Given the description of an element on the screen output the (x, y) to click on. 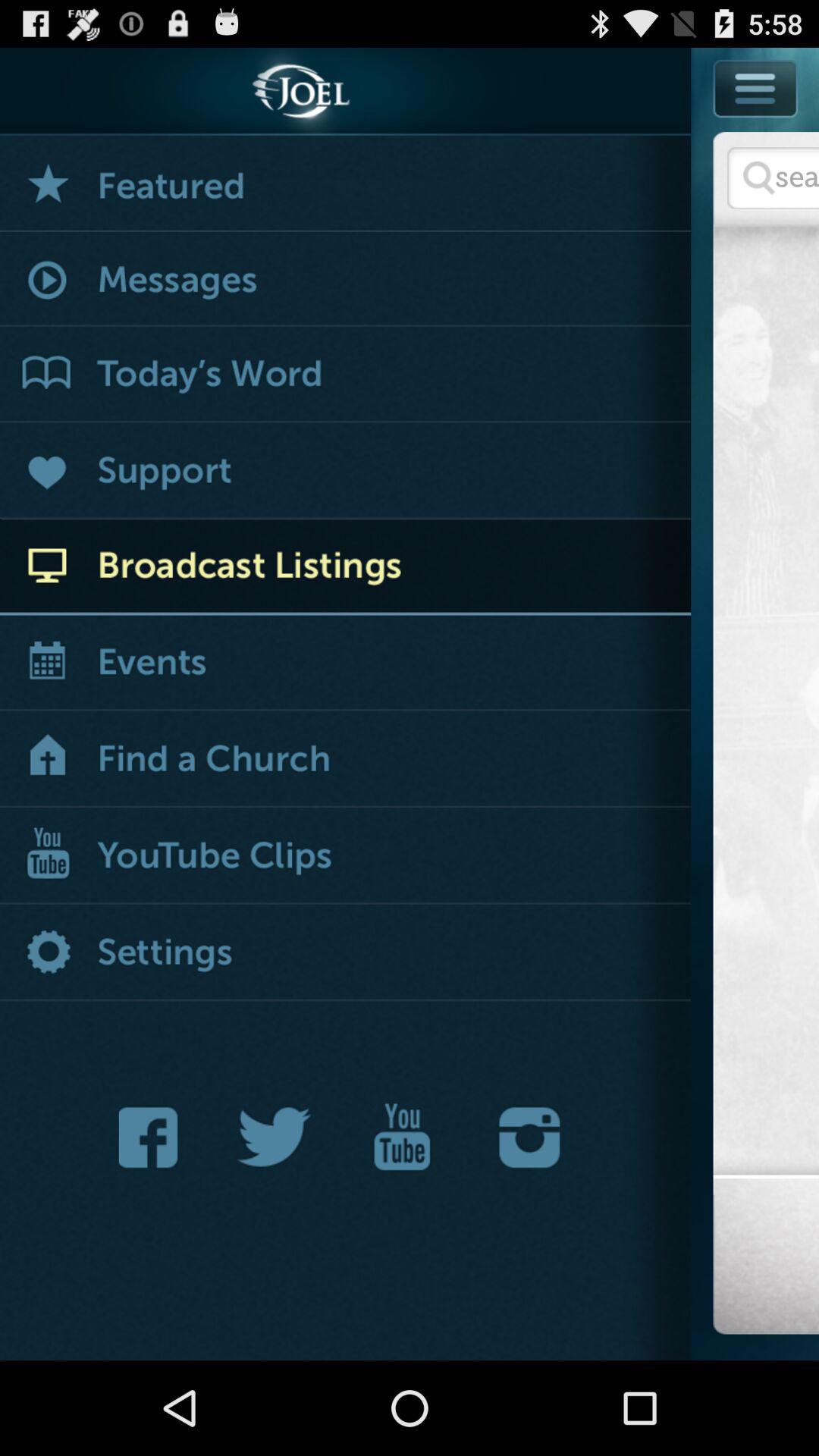
menu button (755, 88)
